Given the description of an element on the screen output the (x, y) to click on. 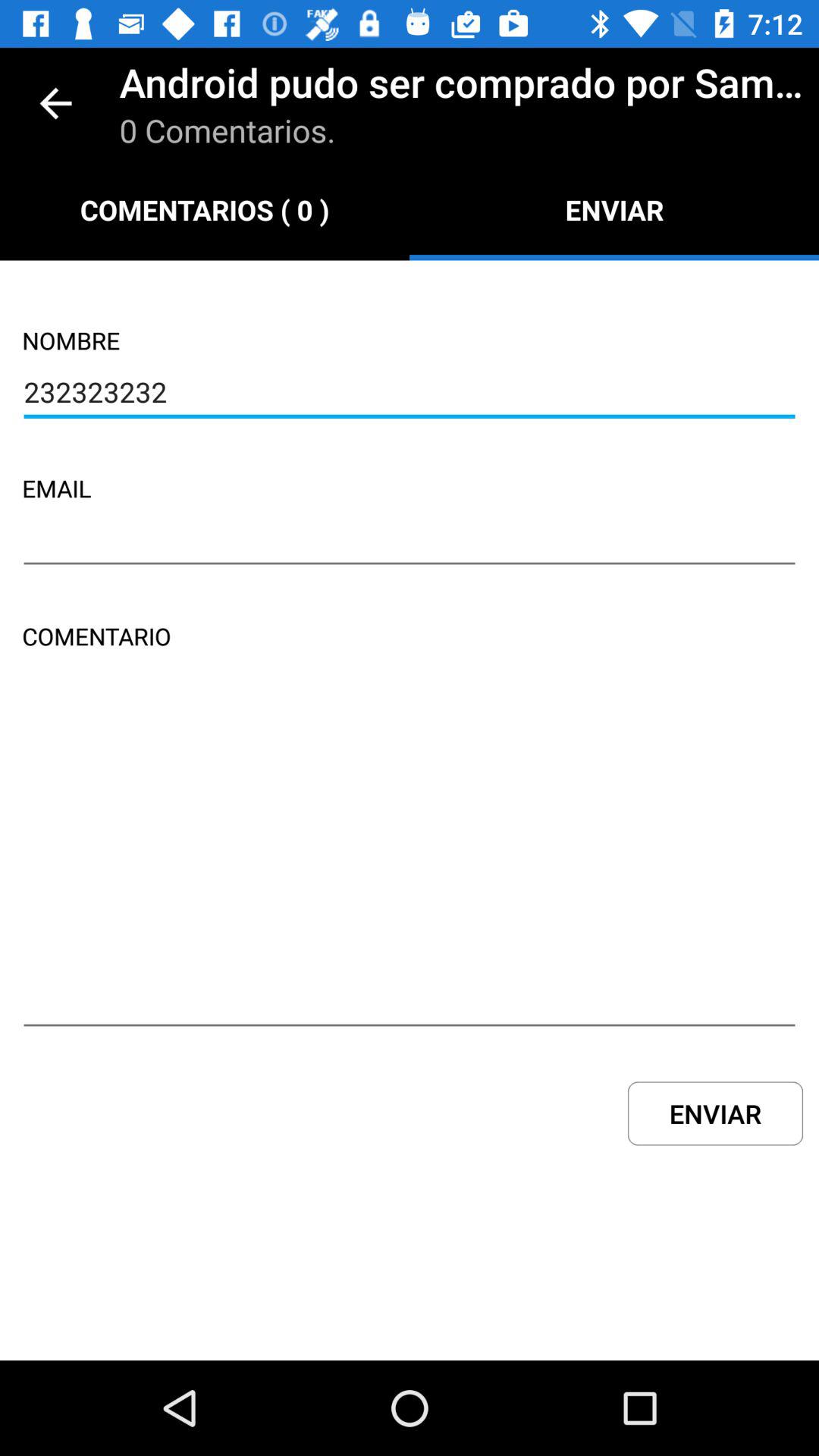
flip to the 232323232 (409, 394)
